Given the description of an element on the screen output the (x, y) to click on. 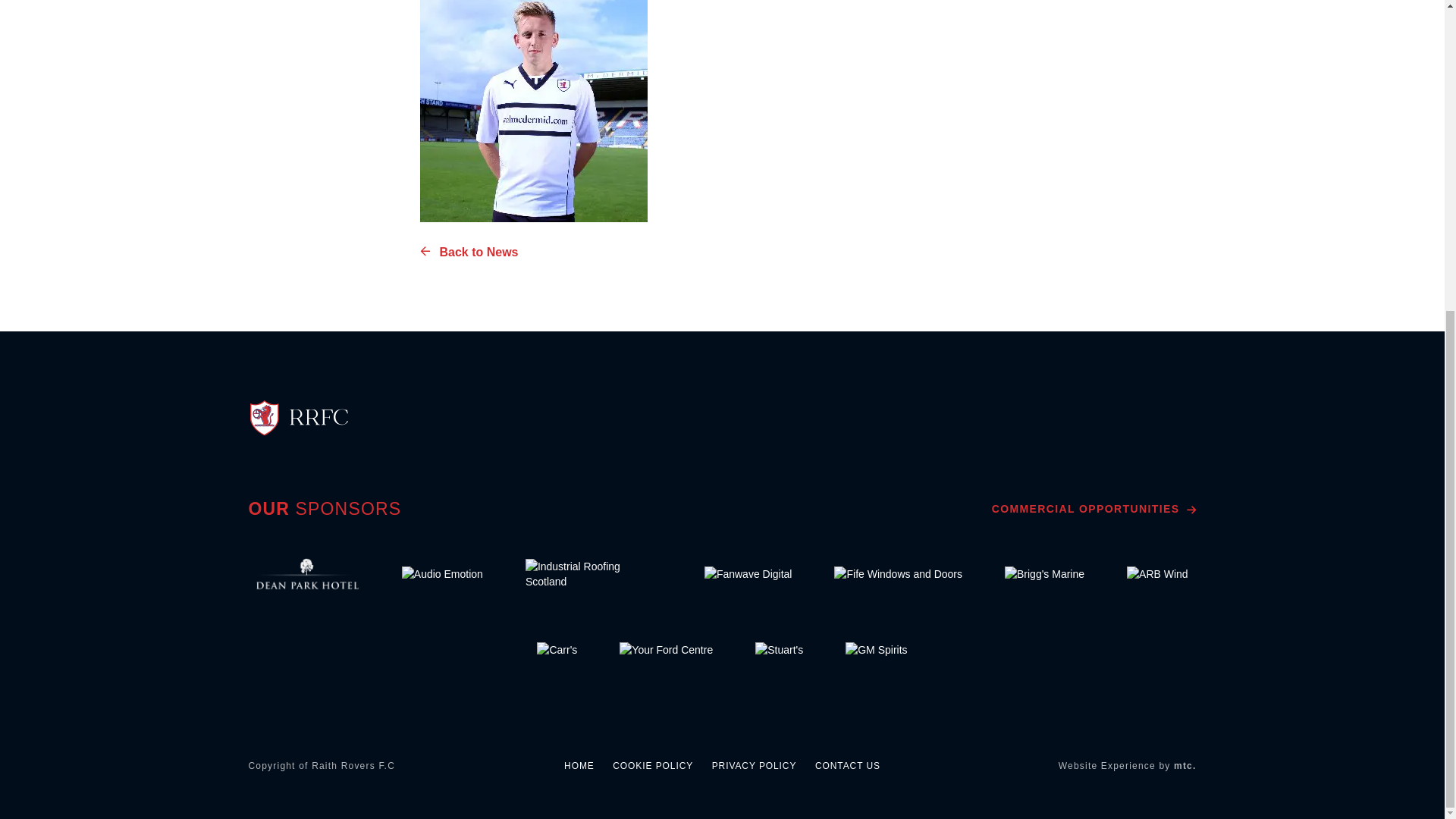
Commercial Opportunities (1093, 508)
Back to News (469, 251)
Fife Windows and Doors (898, 573)
Dean Park Hotel (307, 573)
Brigg's Marine (1044, 573)
Industrial Roofing Scotland (593, 573)
ARB Wind (1157, 573)
Your Ford Centre (665, 649)
Audio Emotion (442, 573)
GM Spirits (876, 649)
Fanwave Digital (747, 573)
